Given the description of an element on the screen output the (x, y) to click on. 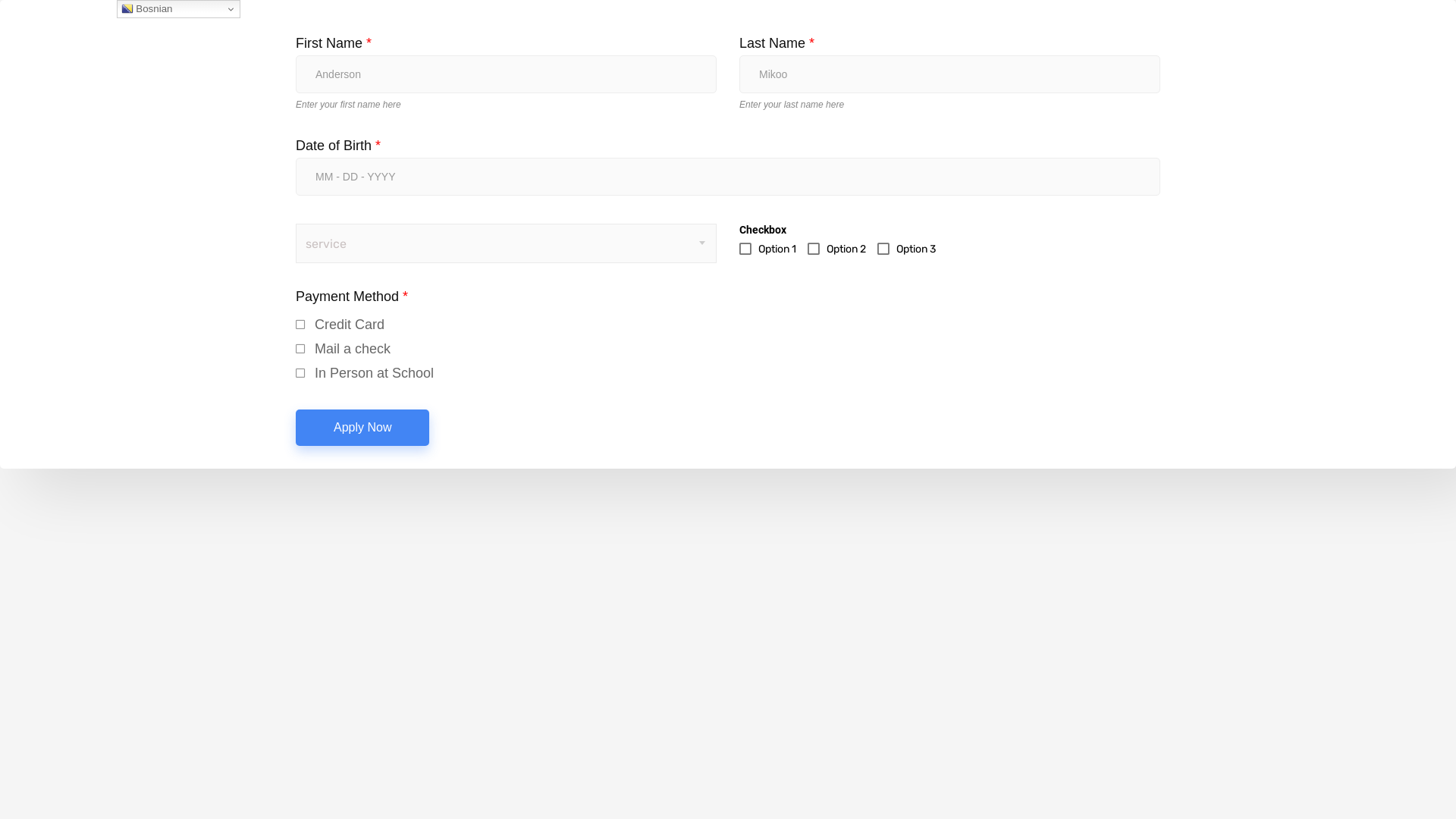
Apply Now Element type: text (362, 427)
Bosnian Element type: text (178, 9)
